Given the description of an element on the screen output the (x, y) to click on. 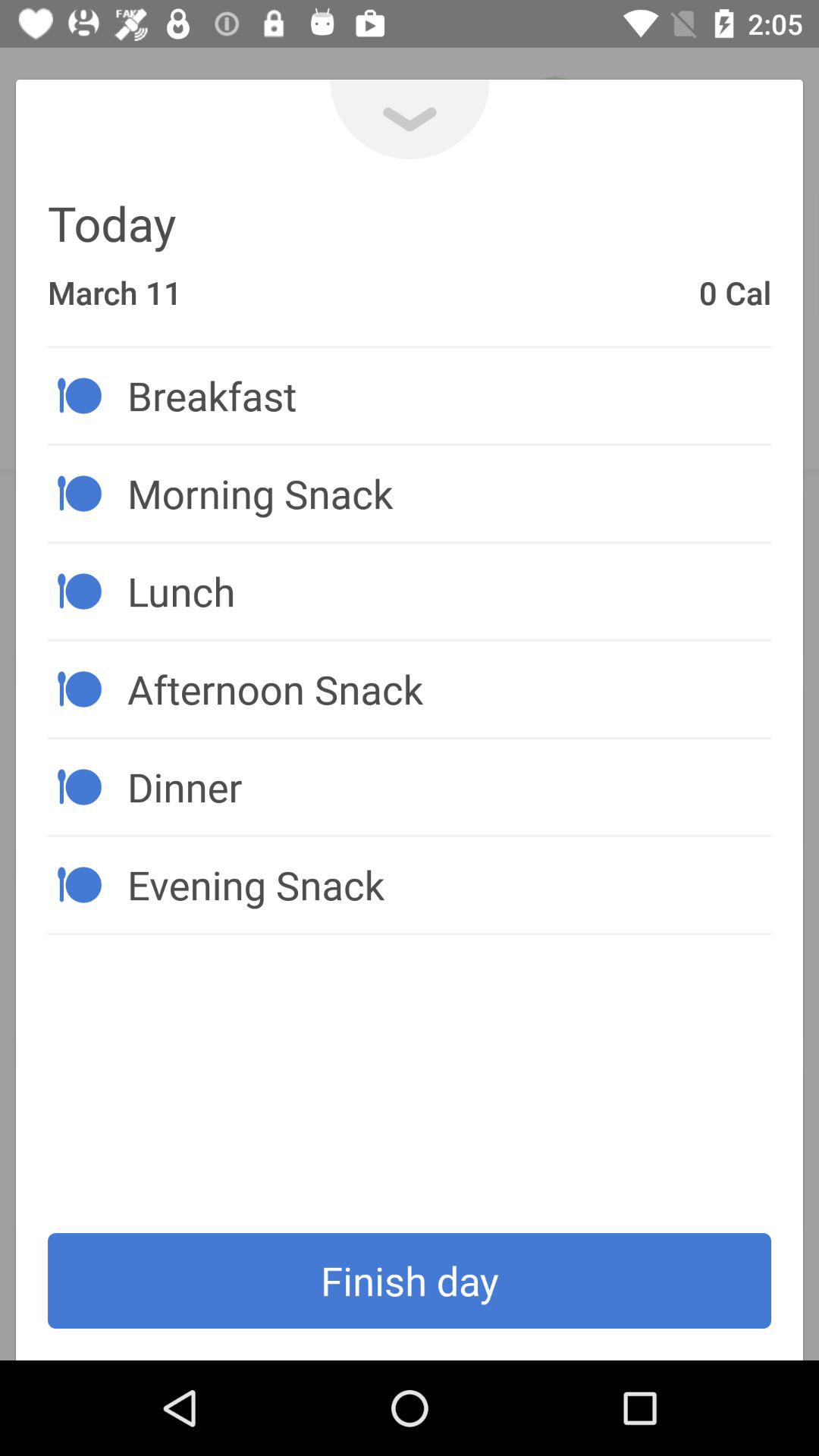
tap the icon below dinner icon (449, 884)
